Given the description of an element on the screen output the (x, y) to click on. 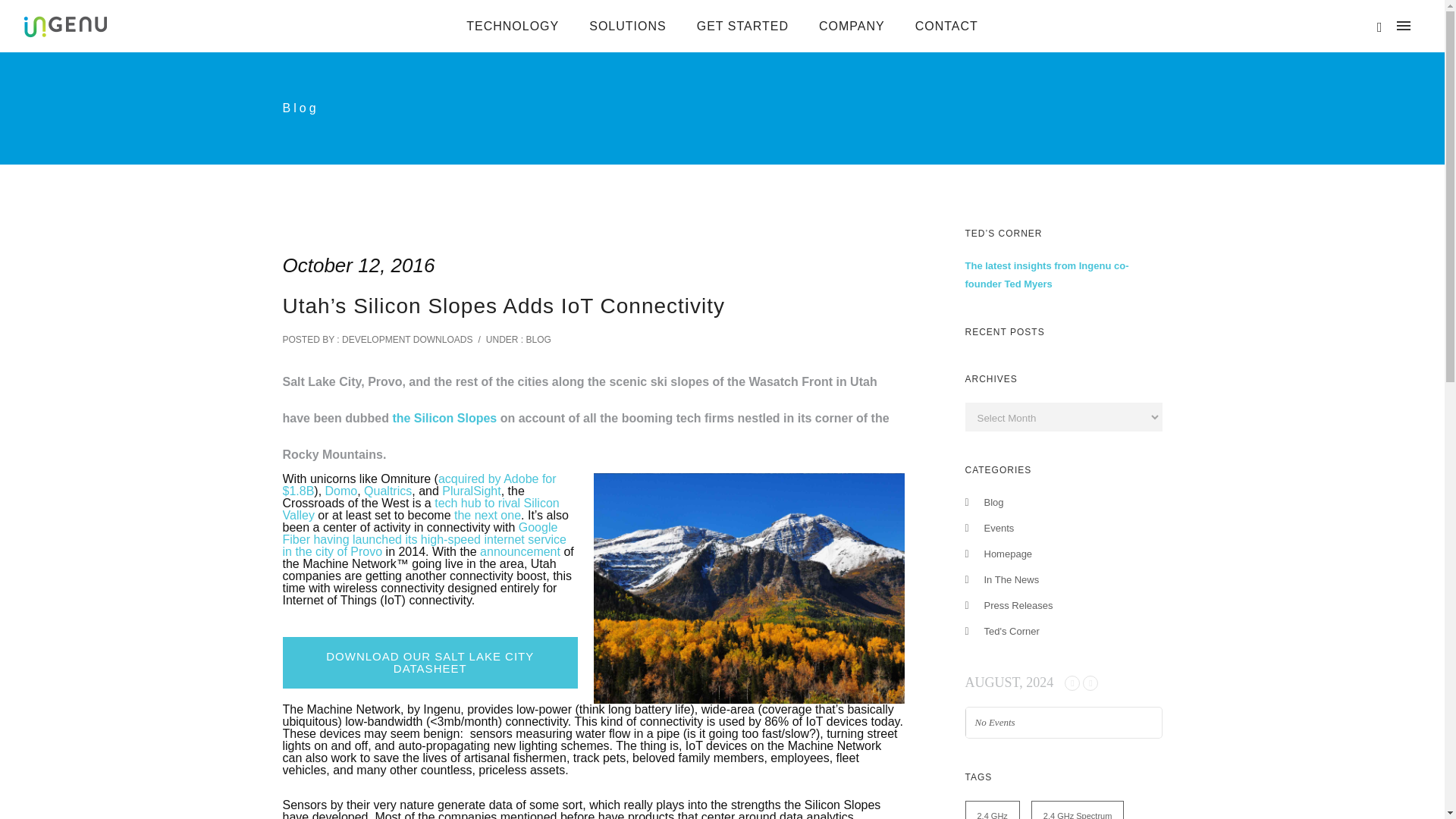
SOLUTIONS (627, 26)
TECHNOLOGY (512, 26)
COMPANY (851, 26)
GET STARTED (742, 26)
TECHNOLOGY (512, 26)
